Given the description of an element on the screen output the (x, y) to click on. 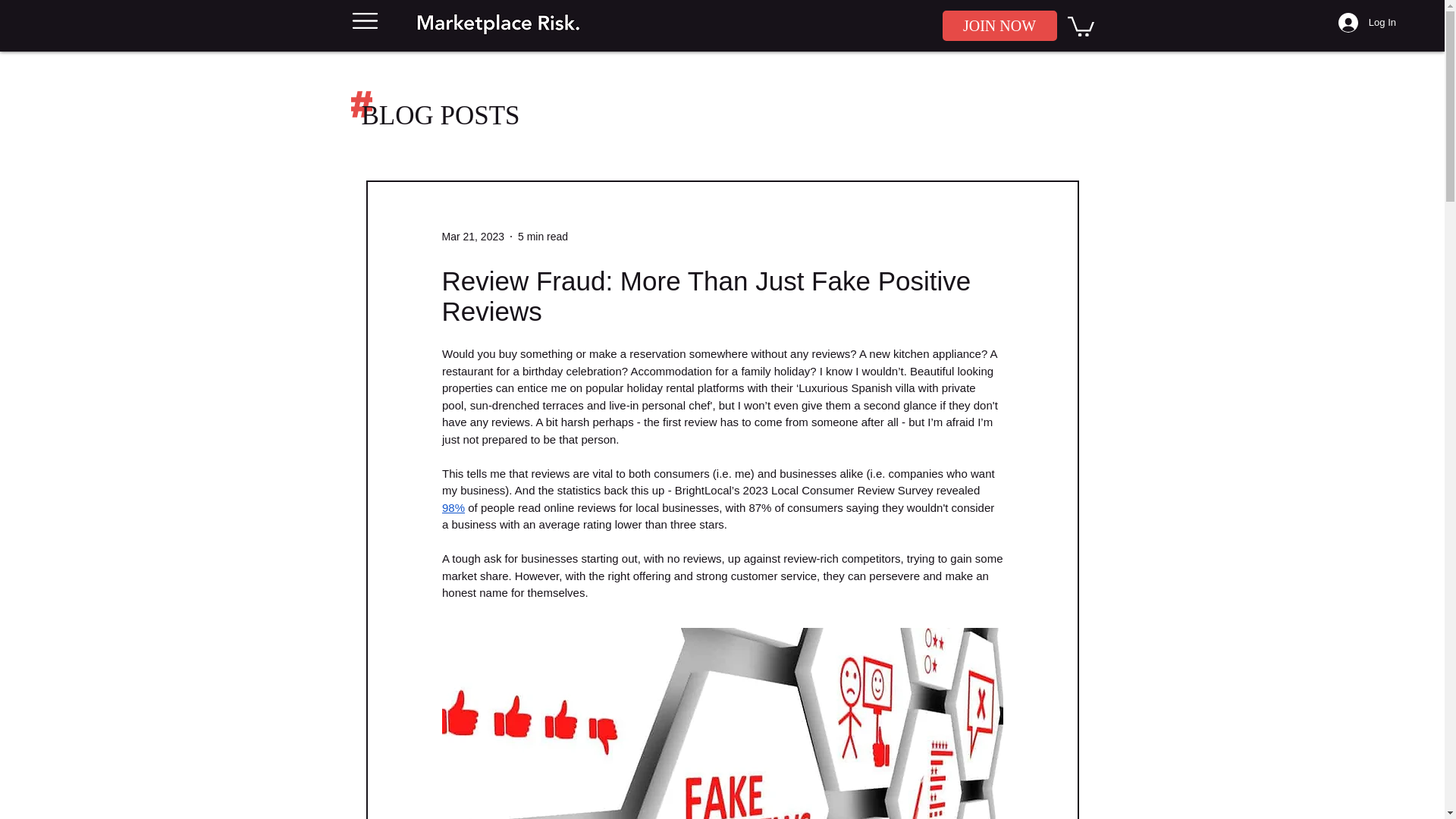
Log In (1366, 22)
5 min read (542, 236)
JOIN NOW (999, 25)
Mar 21, 2023 (472, 236)
